Given the description of an element on the screen output the (x, y) to click on. 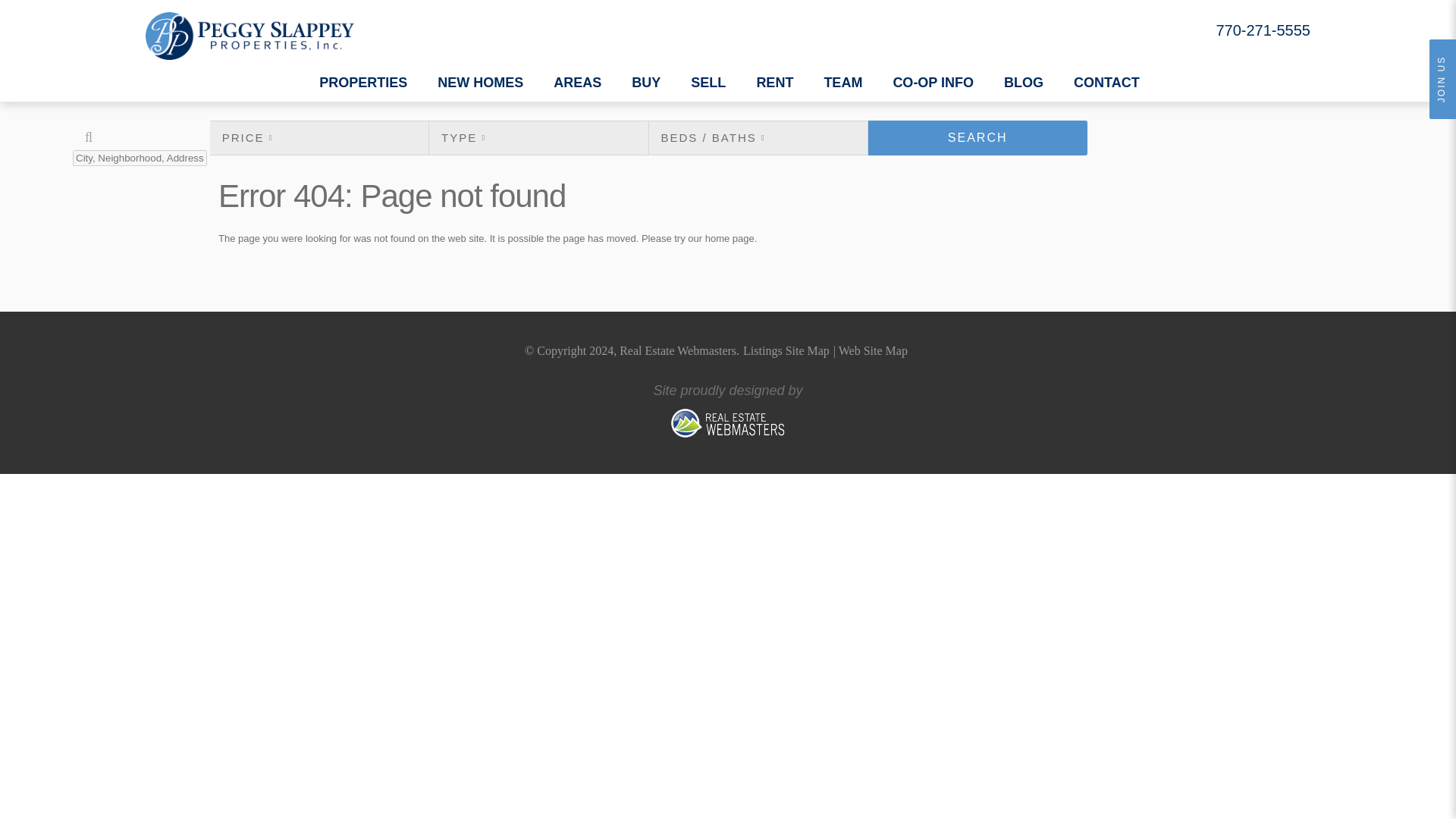
AREAS (577, 82)
PROPERTIES (362, 82)
BUY (646, 82)
SELL (707, 82)
NEW HOMES (480, 82)
770-271-5555 (1262, 30)
